Given the description of an element on the screen output the (x, y) to click on. 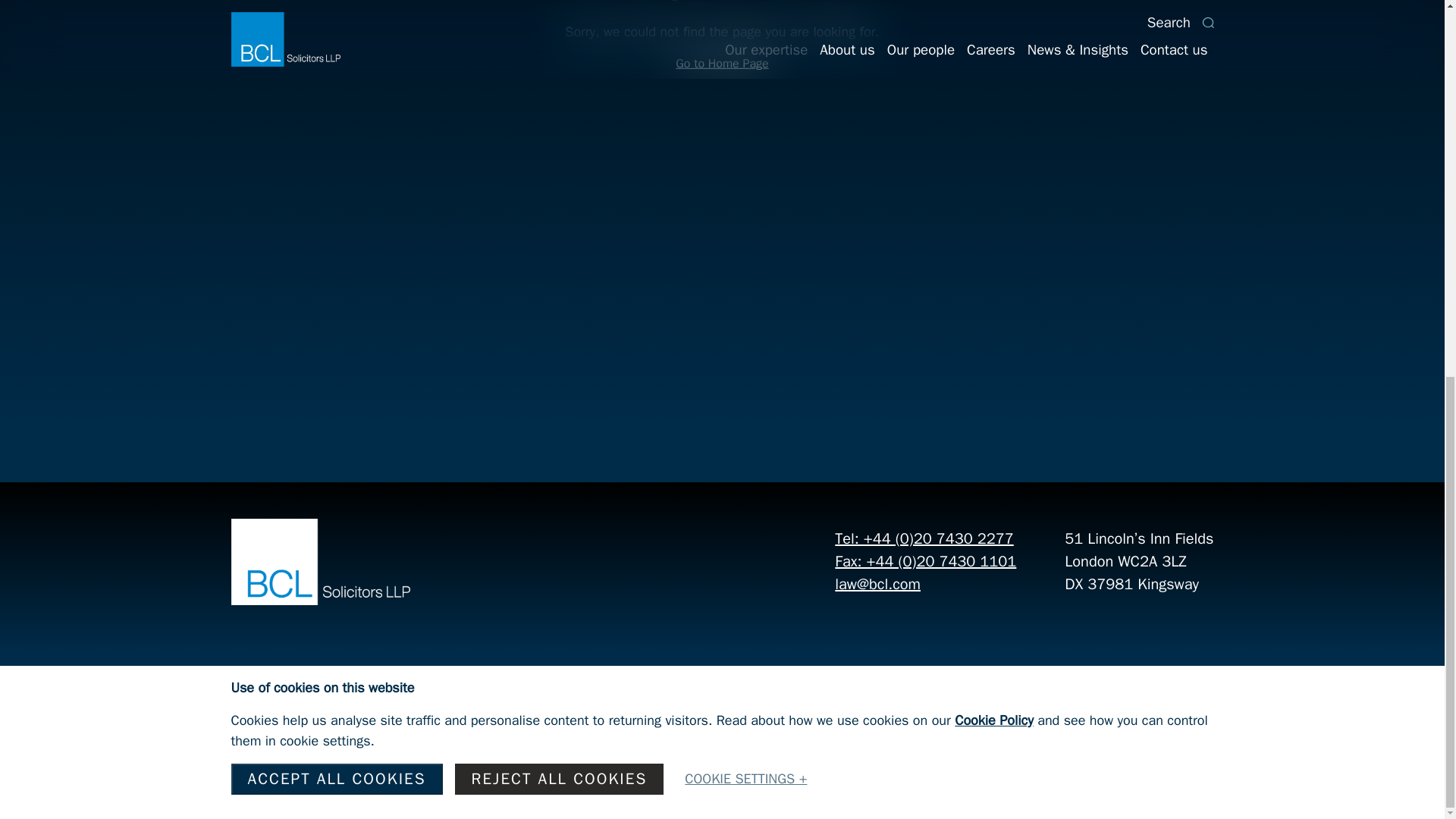
REJECT ALL COOKIES (558, 83)
Cookie Policy (506, 747)
ACCEPT ALL COOKIES (336, 83)
Privacy Policy (618, 747)
Legal Notices (279, 747)
CSR (697, 747)
Transparency (394, 747)
Cookie Policy (994, 25)
Go to Home Page (721, 63)
